Given the description of an element on the screen output the (x, y) to click on. 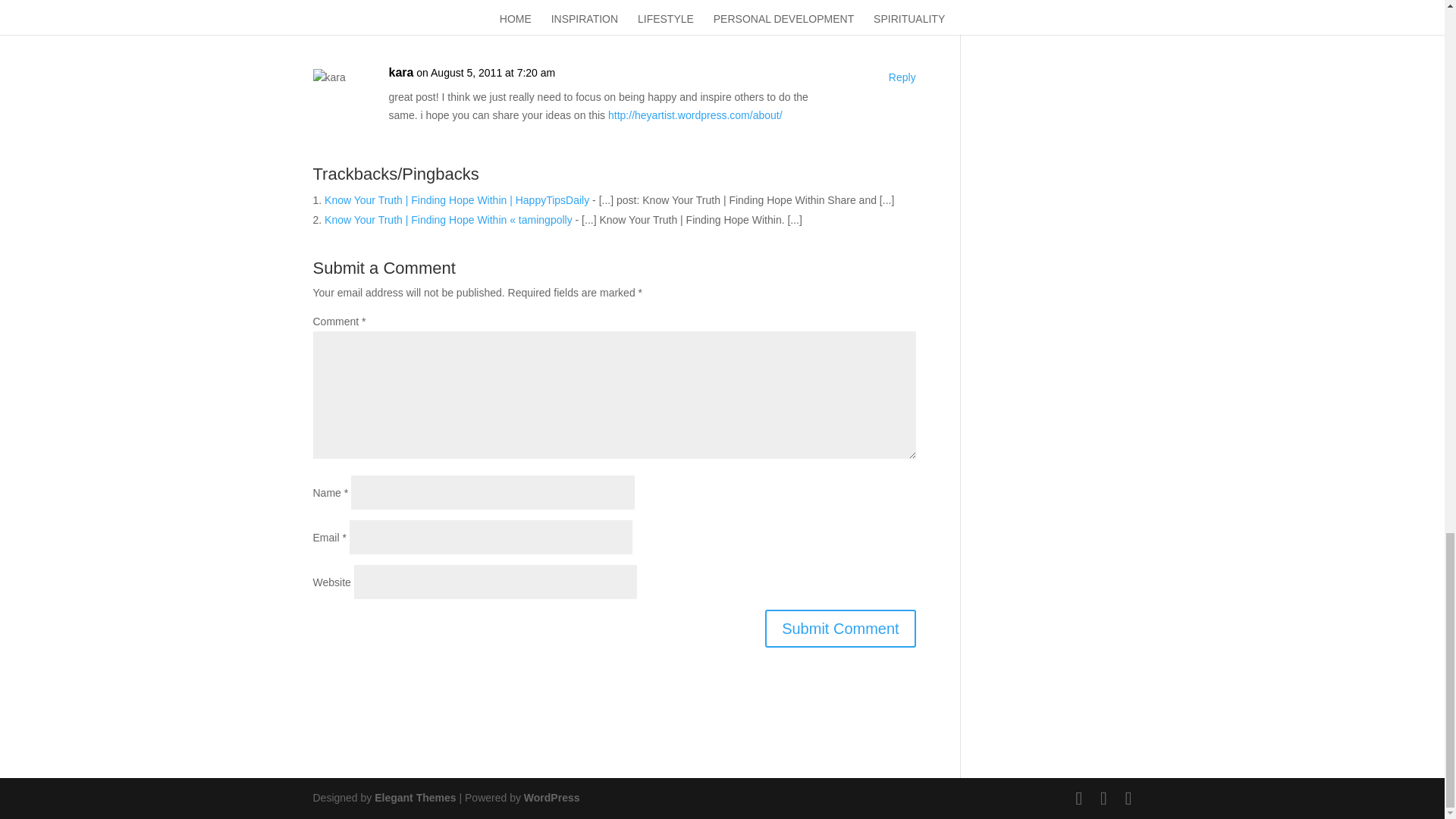
Submit Comment (840, 628)
Premium WordPress Themes (414, 797)
Elegant Themes (414, 797)
Reply (901, 77)
Submit Comment (840, 628)
WordPress (551, 797)
kara (400, 72)
